Given the description of an element on the screen output the (x, y) to click on. 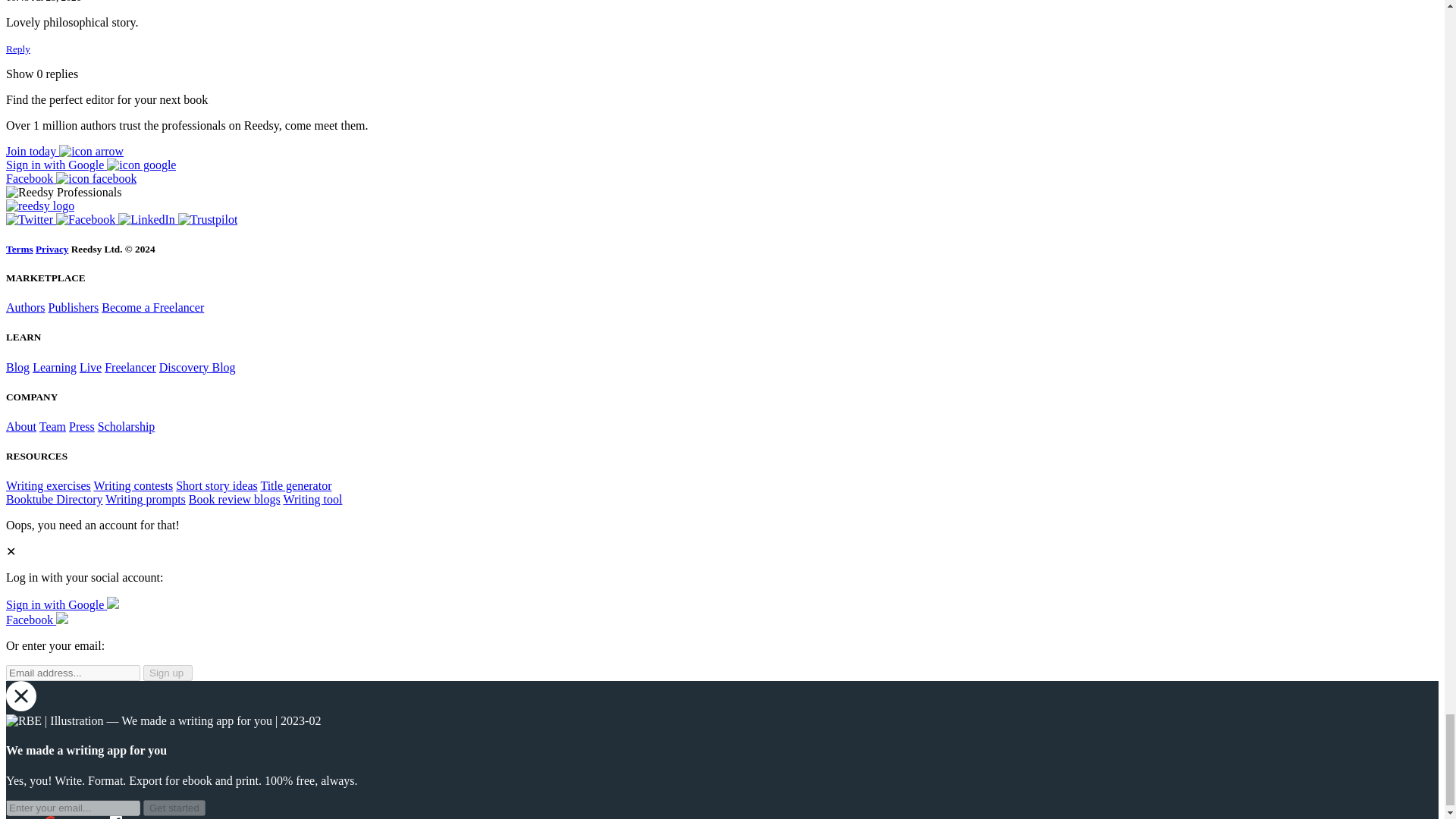
Sign up  (167, 672)
Sign up (64, 151)
Sign in with Google (90, 164)
Facebook (86, 219)
Trustpilot (207, 219)
Sign in with Facebook (70, 178)
Twitter (30, 219)
LinkedIn (147, 219)
Sign in with Google (62, 604)
Get started (173, 807)
